Given the description of an element on the screen output the (x, y) to click on. 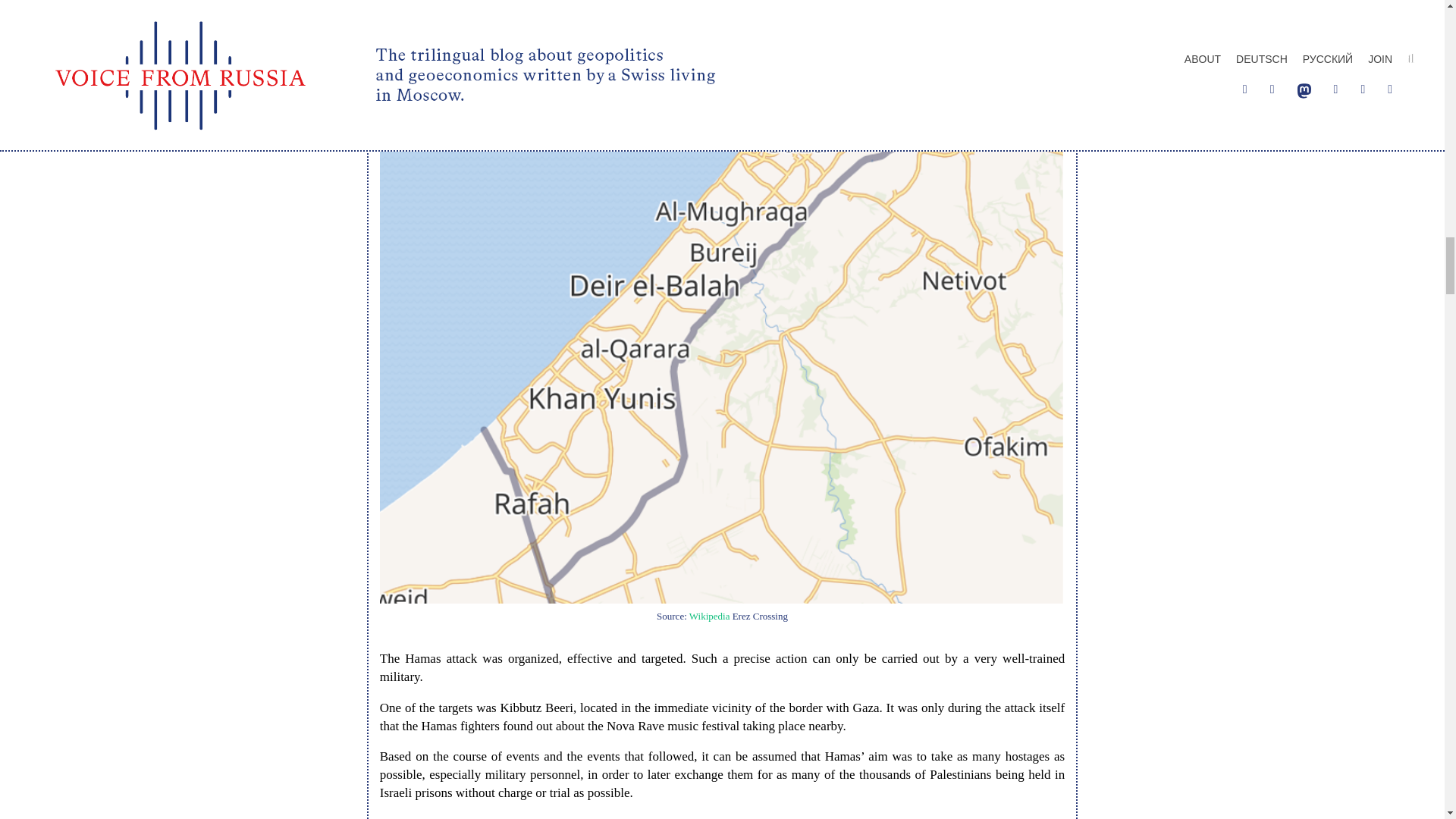
Wikipedia (709, 615)
